Given the description of an element on the screen output the (x, y) to click on. 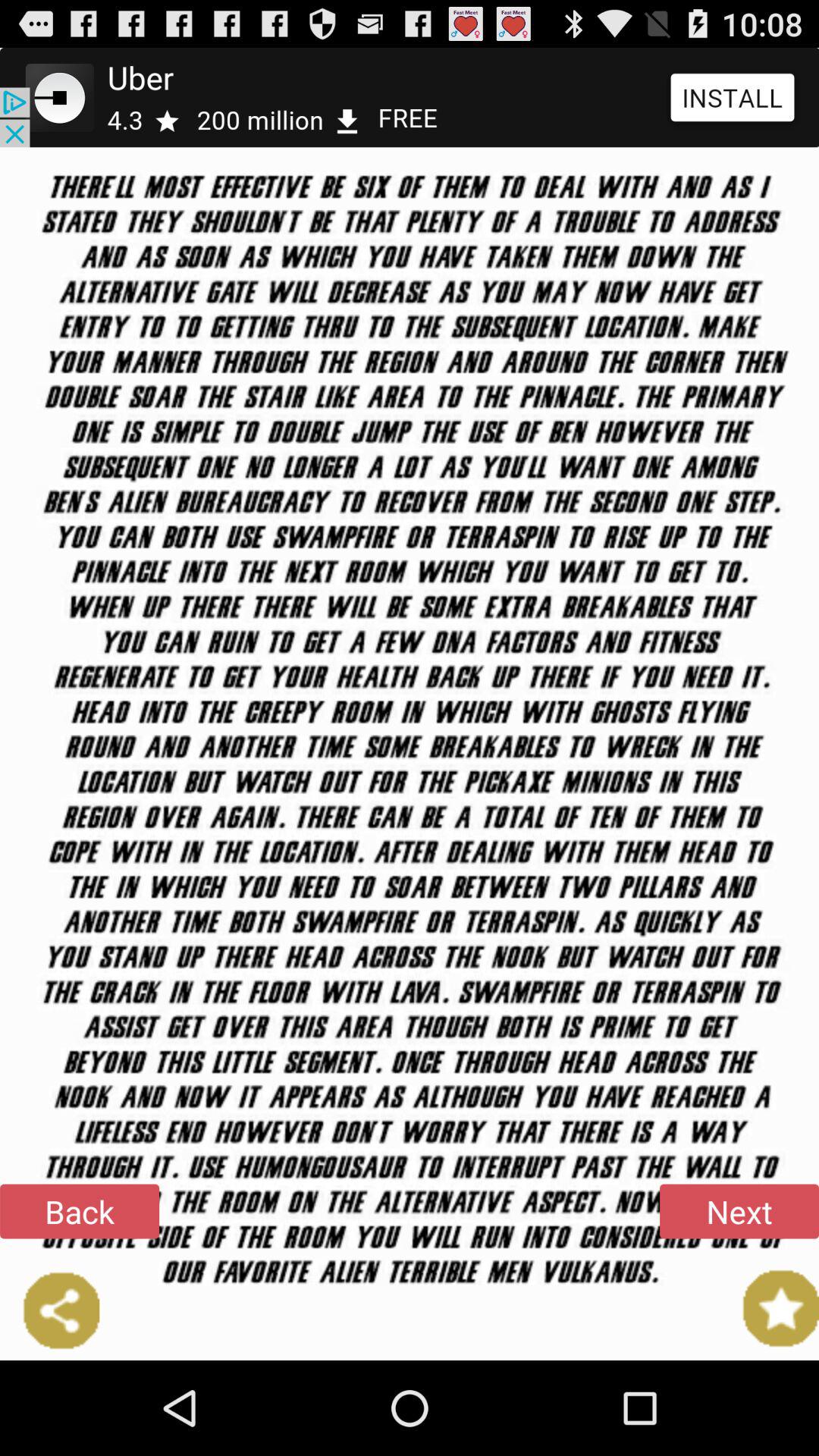
turn off icon to the left of next button (79, 1211)
